Given the description of an element on the screen output the (x, y) to click on. 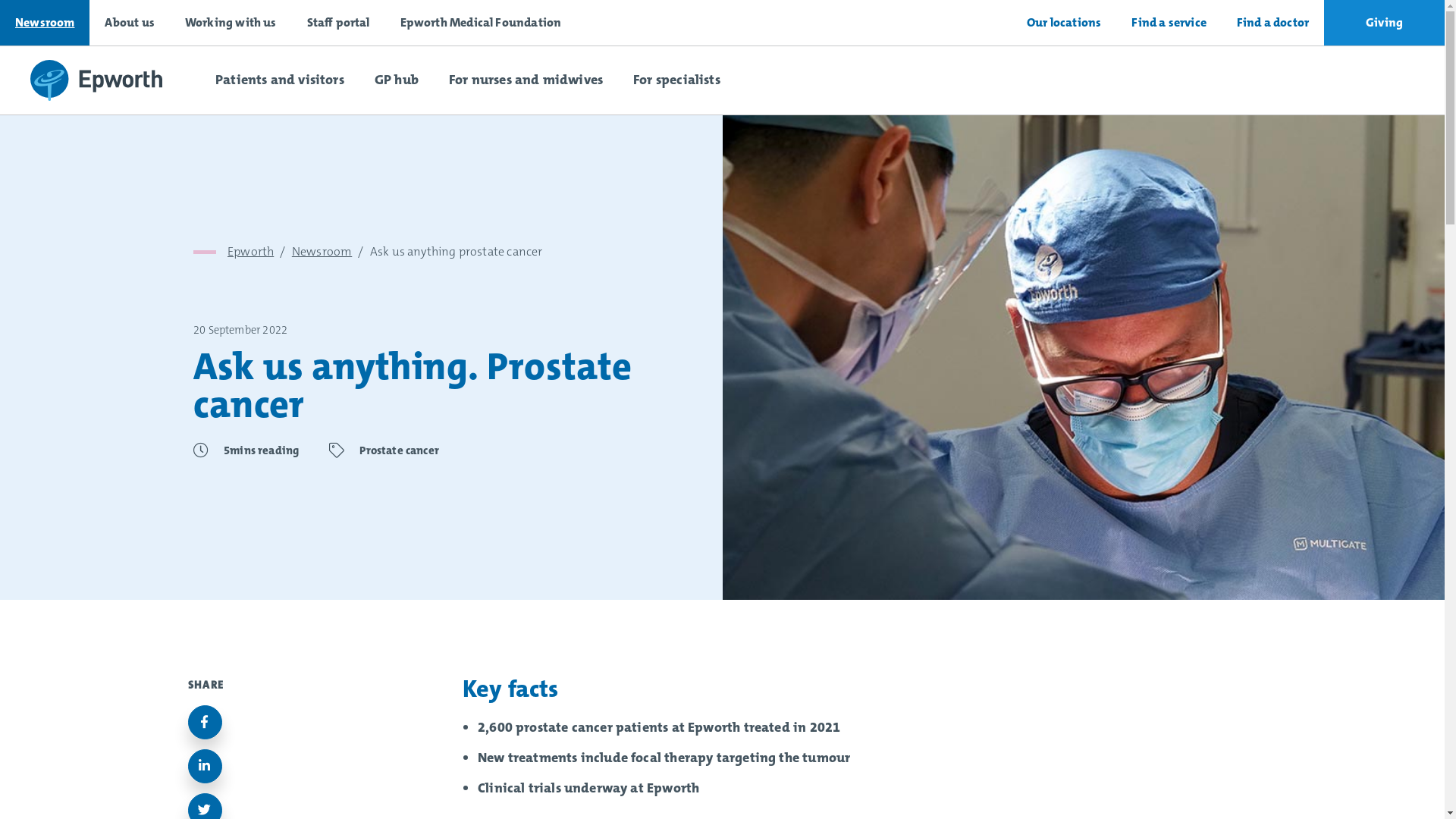
Patients and visitors Element type: text (279, 80)
Staff portal Element type: text (338, 22)
GP hub Element type: text (396, 80)
Newsroom Element type: text (44, 22)
LinkedIn Element type: text (205, 766)
Find a service Element type: text (1168, 22)
Our locations Element type: text (1063, 22)
Epworth Element type: text (250, 251)
Facebook Element type: text (205, 722)
Giving Element type: text (1384, 22)
Epworth Medical Foundation Element type: text (481, 22)
Working with us Element type: text (230, 22)
Newsroom Element type: text (321, 251)
For nurses and midwives Element type: text (525, 80)
For specialists Element type: text (676, 80)
About us Element type: text (129, 22)
Find a doctor Element type: text (1272, 22)
